Given the description of an element on the screen output the (x, y) to click on. 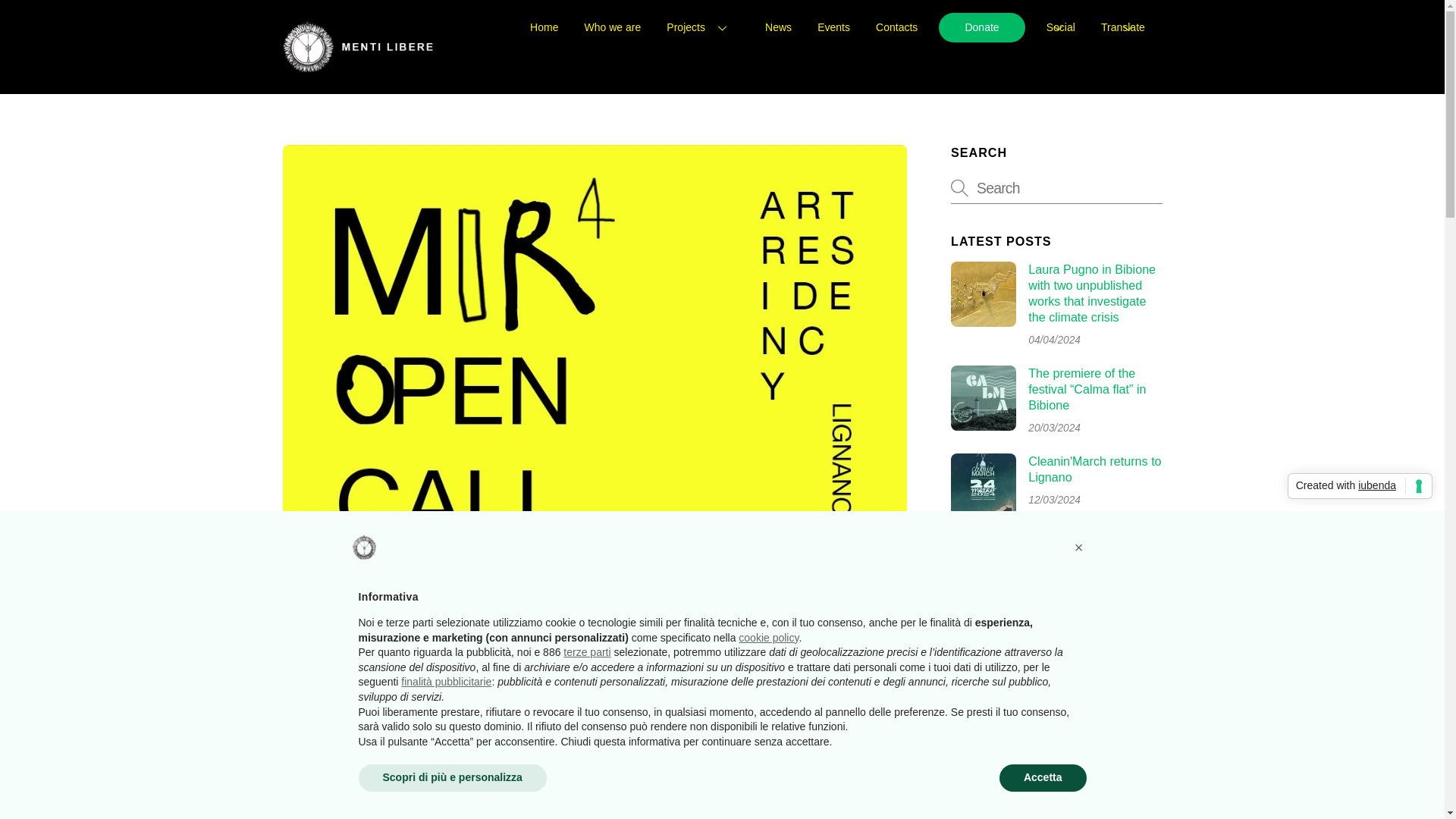
Projects (702, 28)
Contacts (896, 28)
img03 (983, 293)
Events (833, 28)
Who we are (613, 28)
Translate (1122, 28)
Donate (982, 27)
Home (543, 28)
Search (1055, 187)
Social (1060, 28)
Mind Free (357, 67)
News (778, 28)
